Given the description of an element on the screen output the (x, y) to click on. 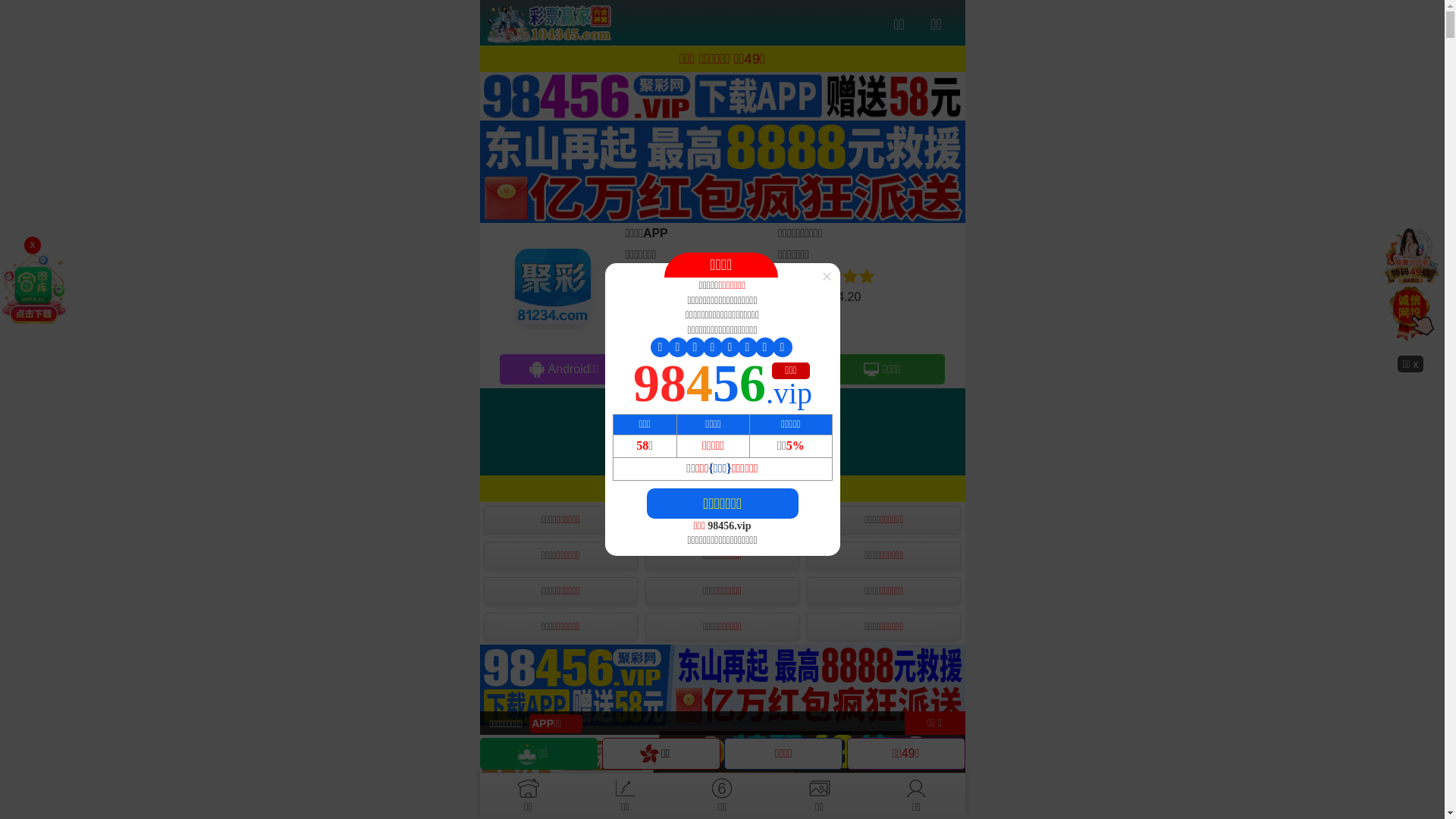
x Element type: text (32, 245)
